Given the description of an element on the screen output the (x, y) to click on. 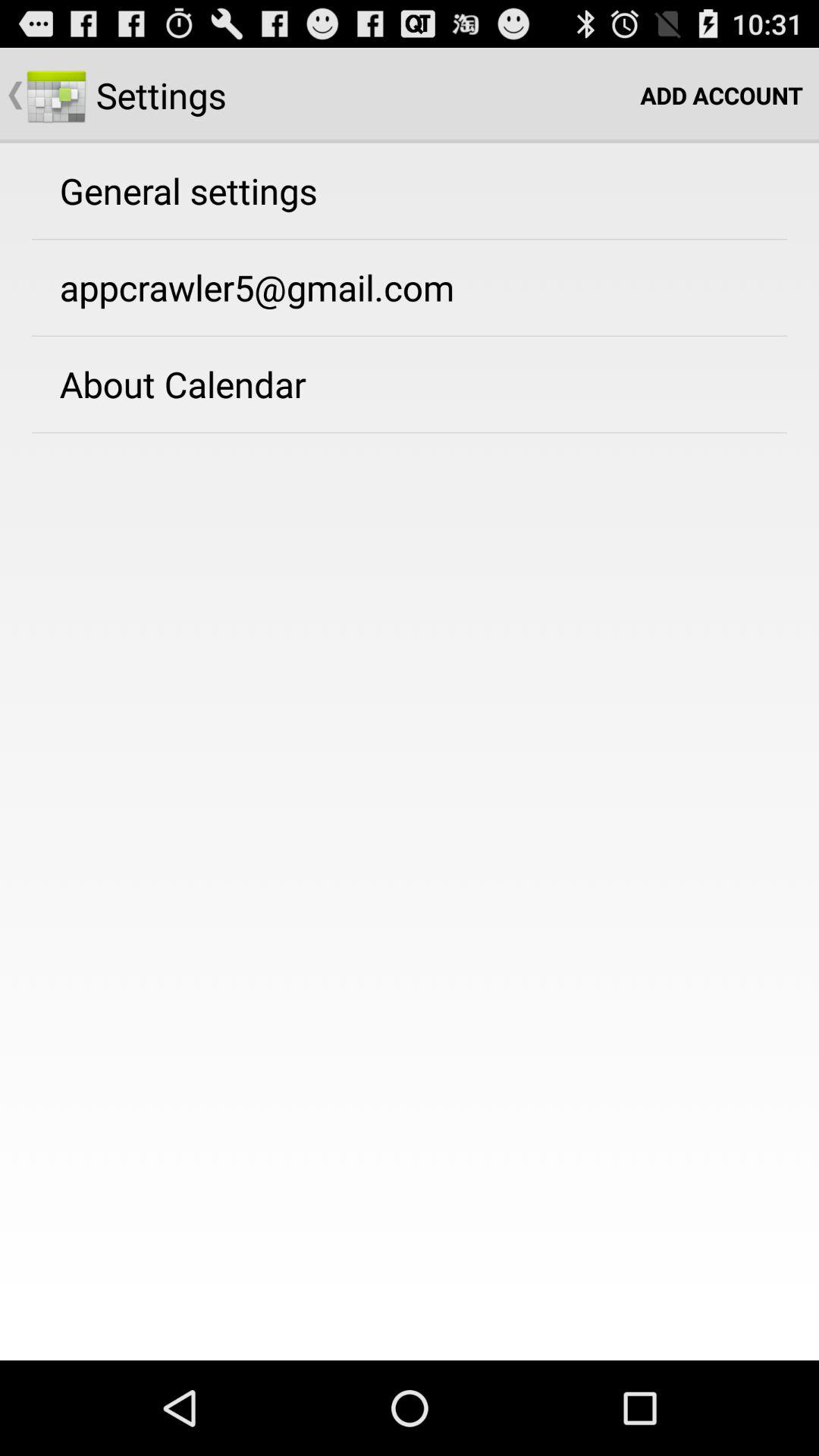
turn off the add account at the top right corner (721, 95)
